Given the description of an element on the screen output the (x, y) to click on. 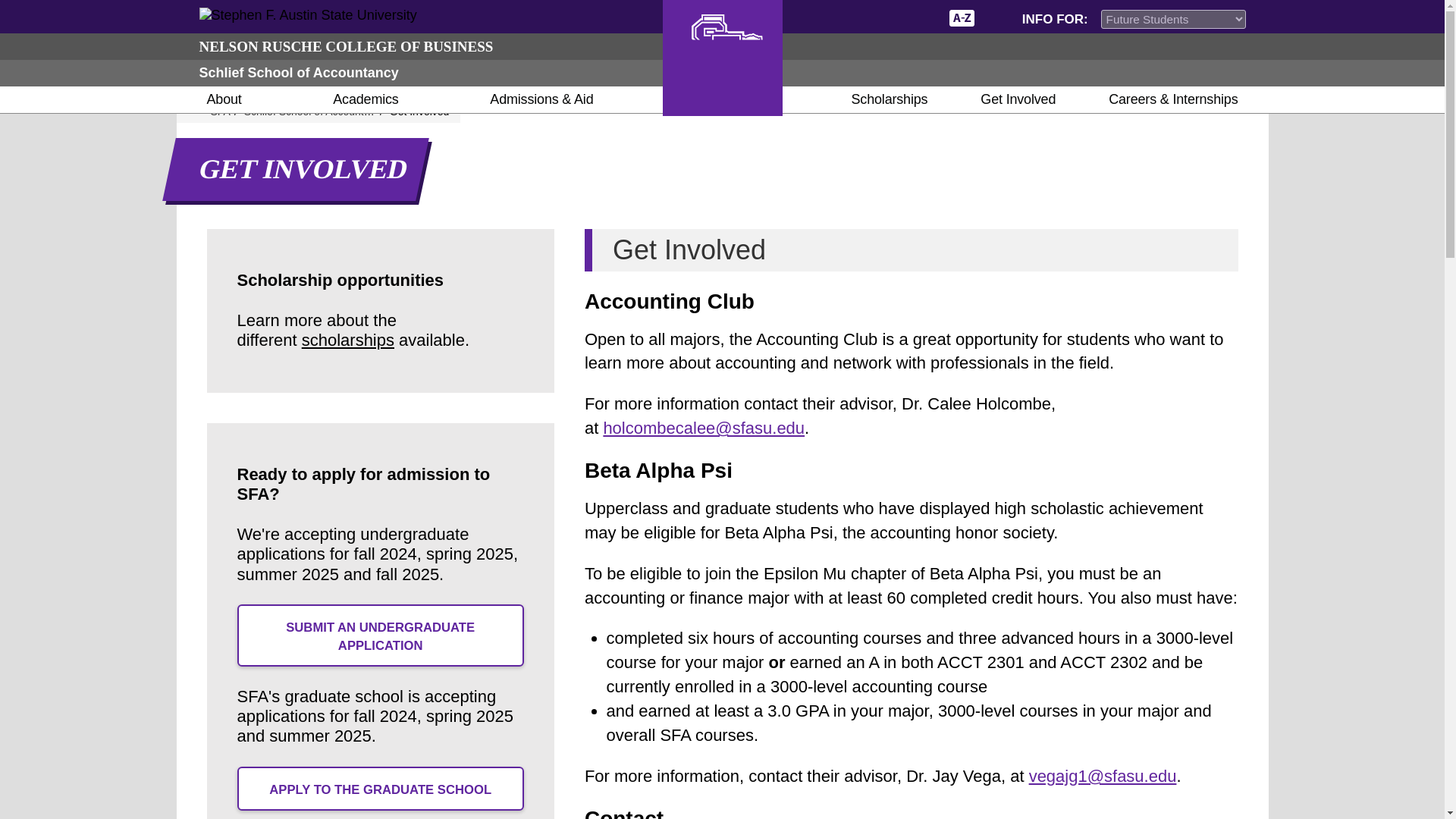
Get Involved (1017, 99)
Search (994, 17)
Search  (994, 17)
Schlief School of Accountancy (297, 72)
Calendar (879, 17)
Scholarships (888, 99)
NELSON RUSCHE COLLEGE OF BUSINESS (345, 46)
News (850, 17)
A to Z list (961, 17)
Calendar (879, 17)
mySFA (919, 17)
mySFA (919, 17)
News (850, 17)
